Given the description of an element on the screen output the (x, y) to click on. 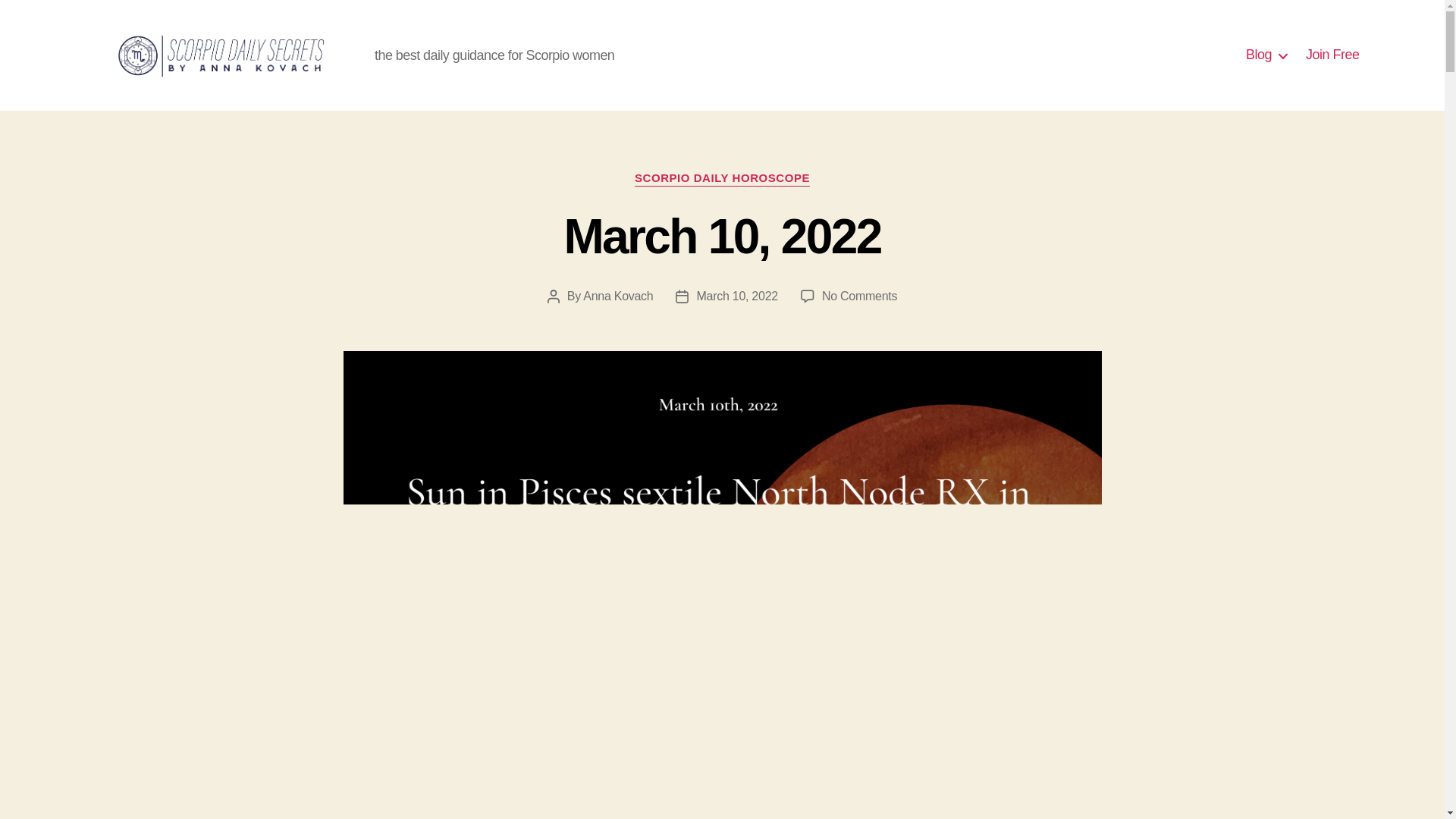
March 10, 2022 (721, 236)
Anna Kovach (617, 295)
Join Free (1332, 54)
SCORPIO DAILY HOROSCOPE (721, 178)
Blog (859, 295)
March 10, 2022 (1266, 54)
